Given the description of an element on the screen output the (x, y) to click on. 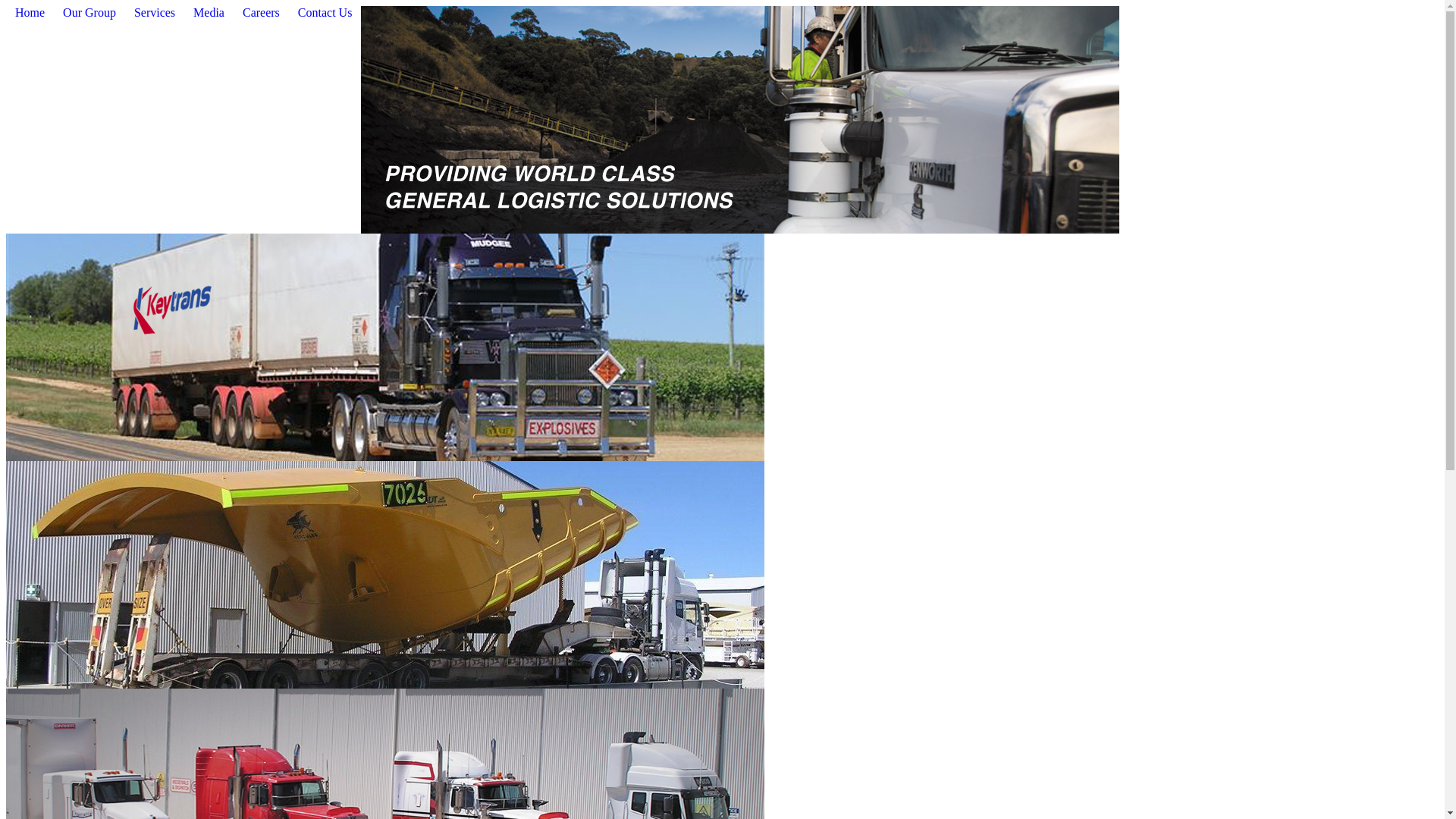
Contact Us Element type: text (324, 13)
Careers Element type: text (260, 13)
KeyTrans Element type: hover (385, 683)
KeyTrans Element type: hover (385, 456)
Services Element type: text (154, 13)
Media Element type: text (208, 13)
KeyTrans Element type: hover (739, 228)
Home Element type: text (29, 13)
Our Group Element type: text (89, 13)
